Given the description of an element on the screen output the (x, y) to click on. 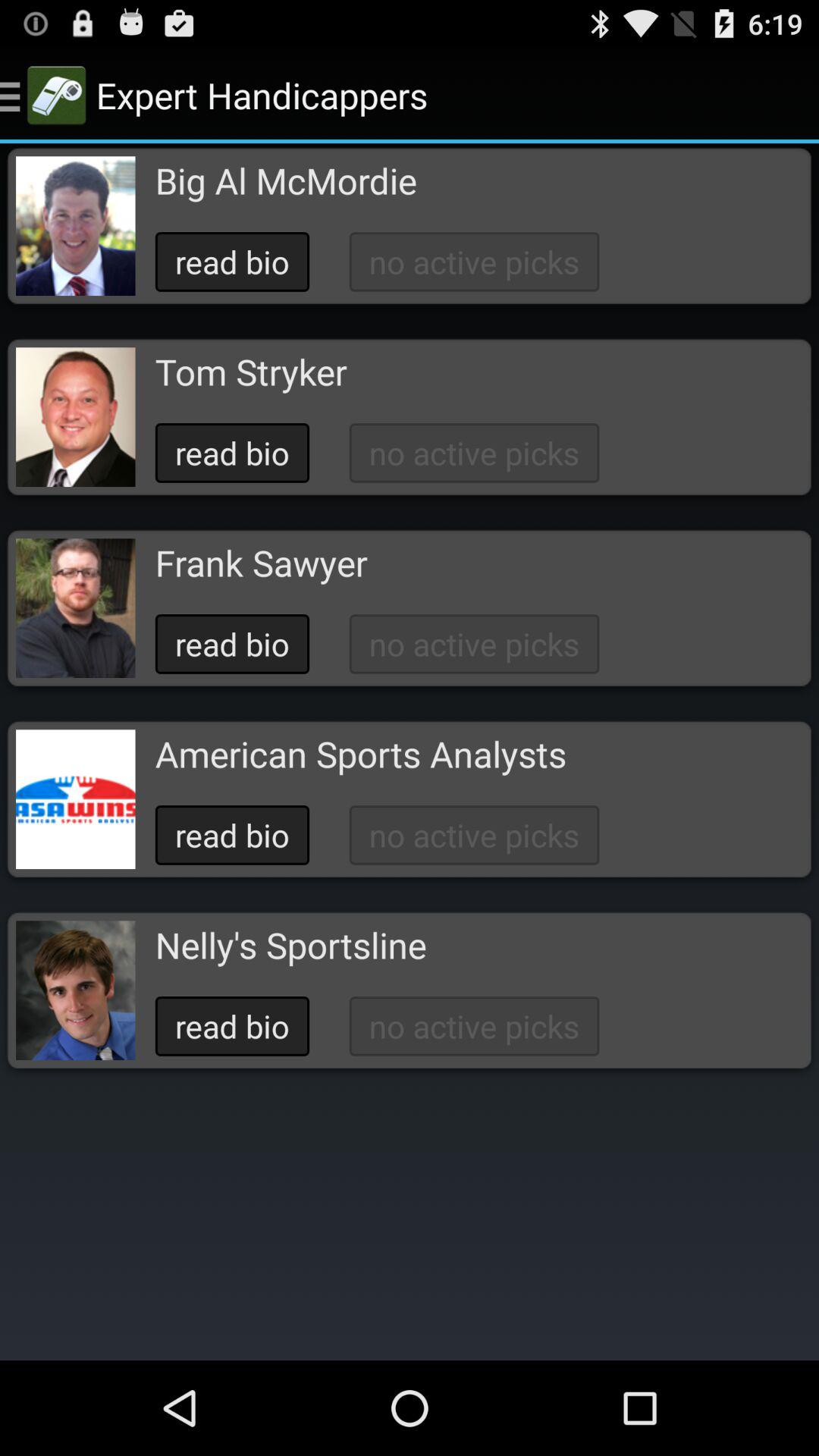
turn on item above read bio item (285, 180)
